Given the description of an element on the screen output the (x, y) to click on. 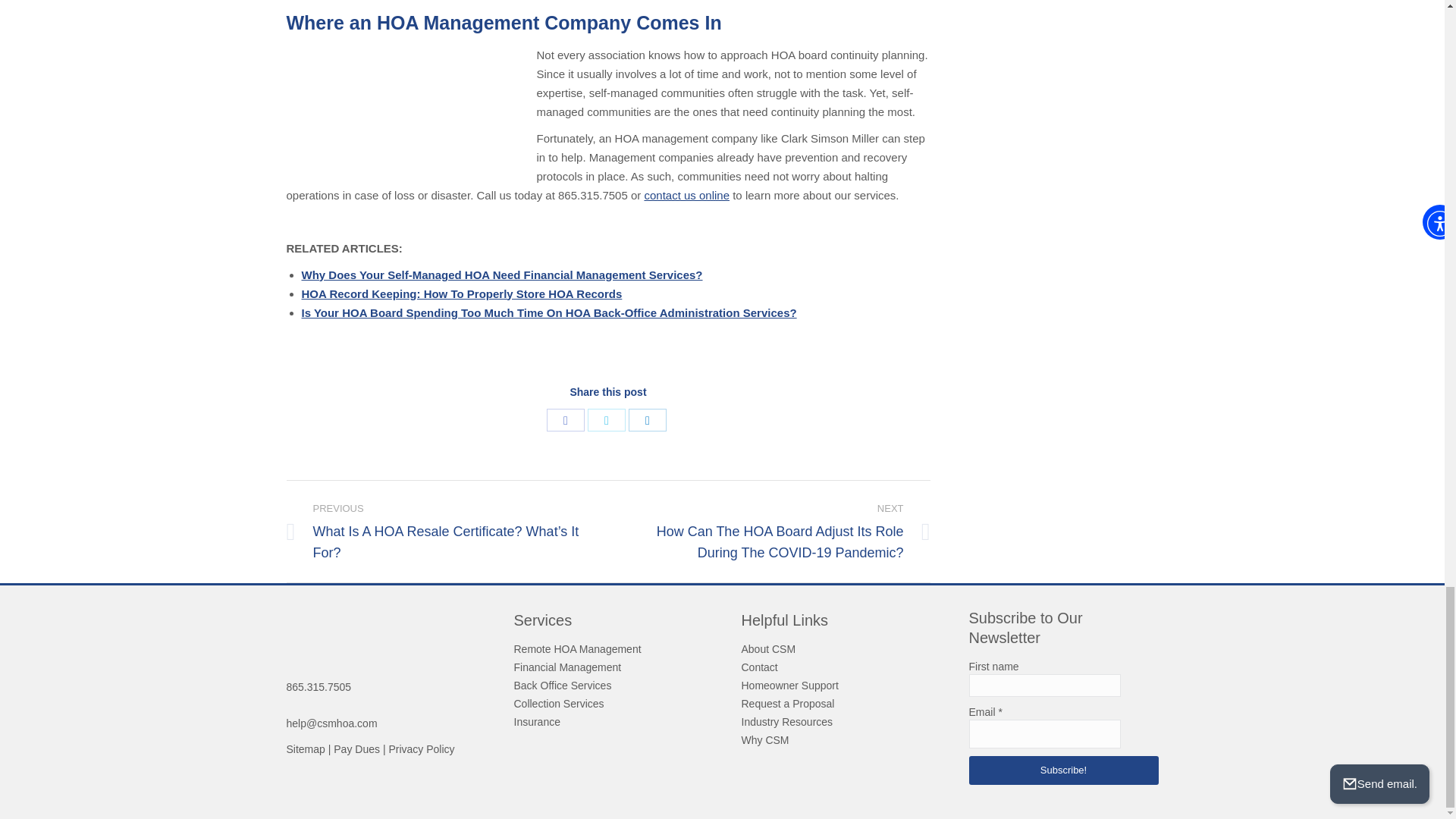
Facebook (566, 418)
LinkedIn (647, 418)
Email (1045, 733)
First name (1045, 684)
Twitter (607, 418)
Subscribe! (1063, 769)
